Given the description of an element on the screen output the (x, y) to click on. 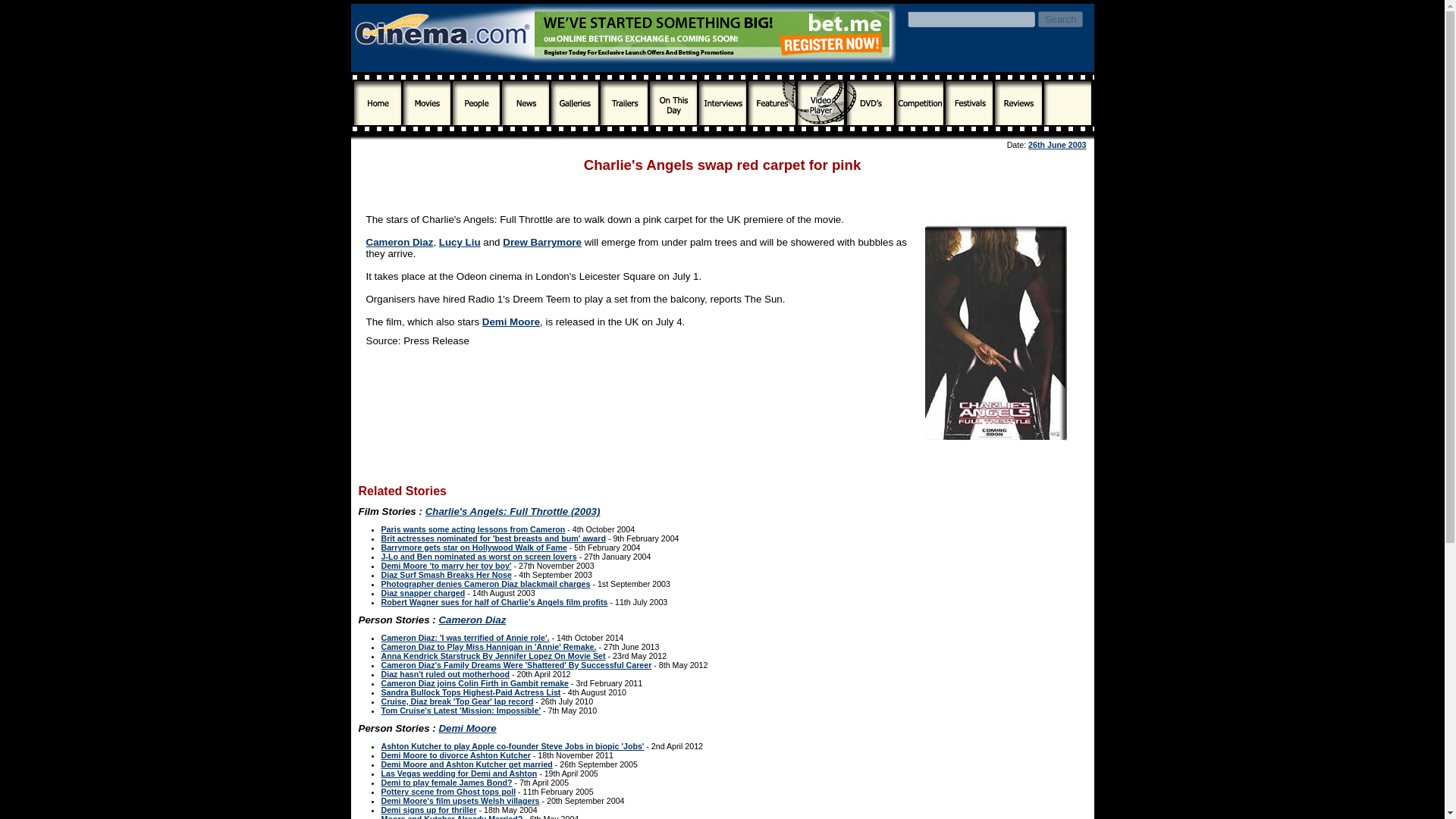
Diaz hasn't ruled out motherhood (444, 673)
Anna Kendrick Starstruck By Jennifer Lopez On Movie Set (492, 655)
Cameron Diaz: 'I was terrified of Annie role'. (464, 637)
Cameron Diaz (471, 619)
Brit actresses nominated for 'best breasts and bum' award (492, 537)
Search (1059, 19)
J-Lo and Ben nominated as worst on screen lovers (478, 556)
Demi Moore 'to marry her toy boy' (445, 565)
Advertisement (721, 186)
Cruise, Diaz break 'Top Gear' lap record (456, 700)
Diaz snapper charged (422, 592)
Demi Moore to divorce Ashton Kutcher (454, 755)
Demi Moore (467, 727)
Las Vegas wedding for Demi and Ashton (458, 773)
